Given the description of an element on the screen output the (x, y) to click on. 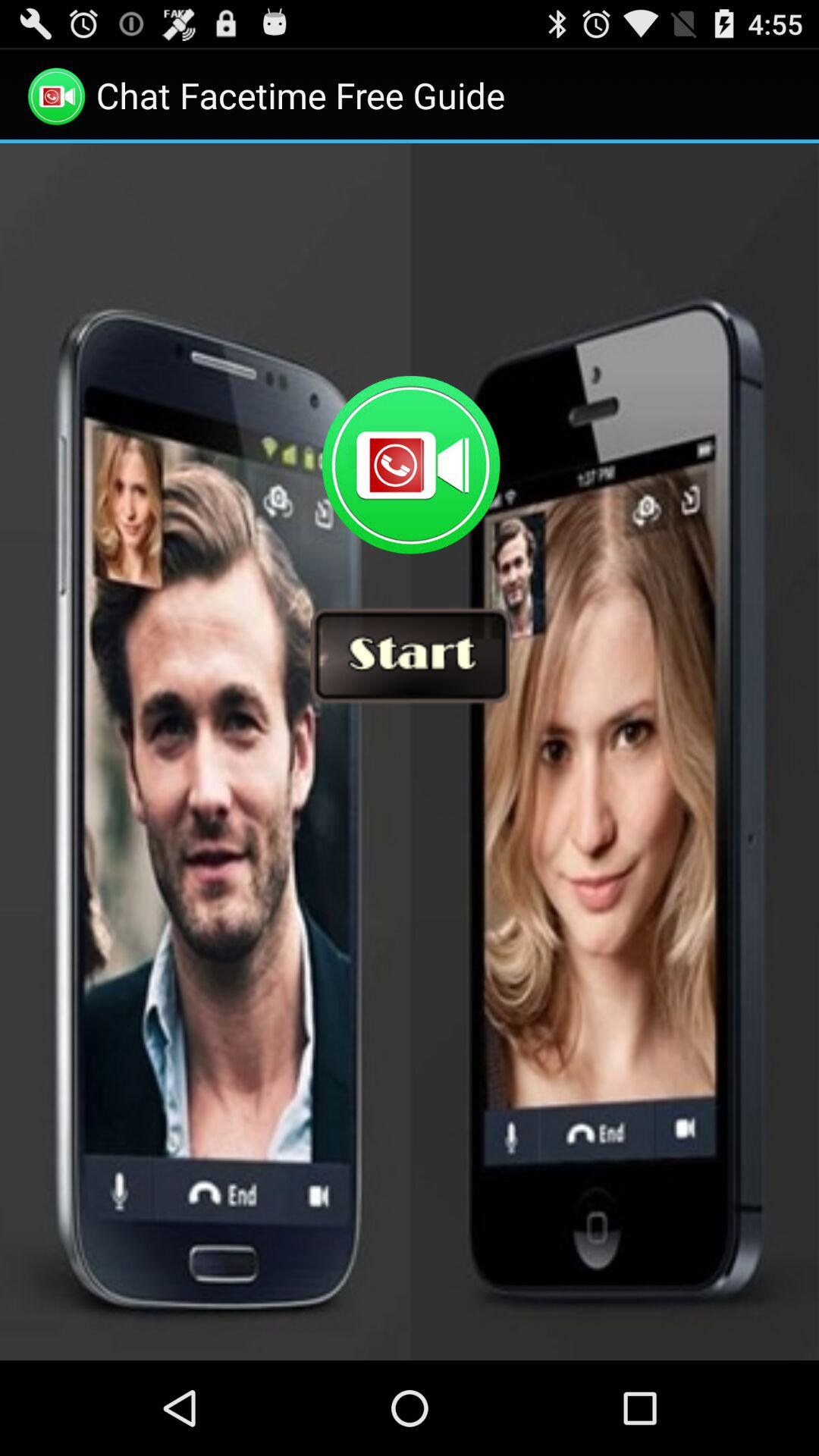
start video chat (409, 751)
